Given the description of an element on the screen output the (x, y) to click on. 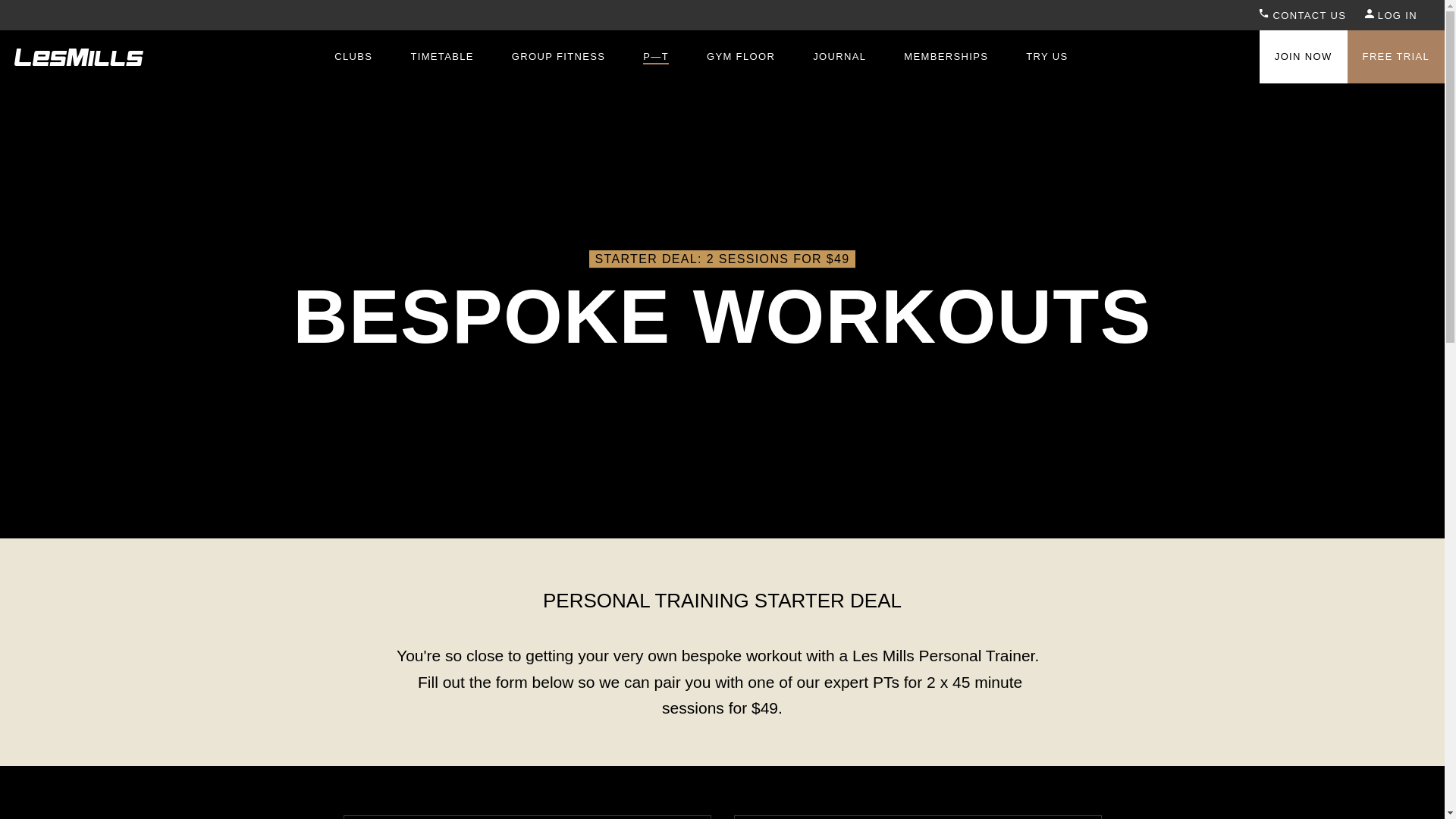
MEMBERSHIPS (946, 56)
GROUP FITNESS (558, 56)
CLUBS (353, 56)
CONTACT US (1301, 15)
Try Us (1046, 56)
Group Fitness (558, 56)
LOG IN (1390, 15)
Timetable (441, 56)
JOIN NOW (1303, 56)
Memberships (946, 56)
Journal (839, 56)
TIMETABLE (441, 56)
GYM FLOOR (740, 56)
TRY US (1046, 56)
JOURNAL (839, 56)
